Given the description of an element on the screen output the (x, y) to click on. 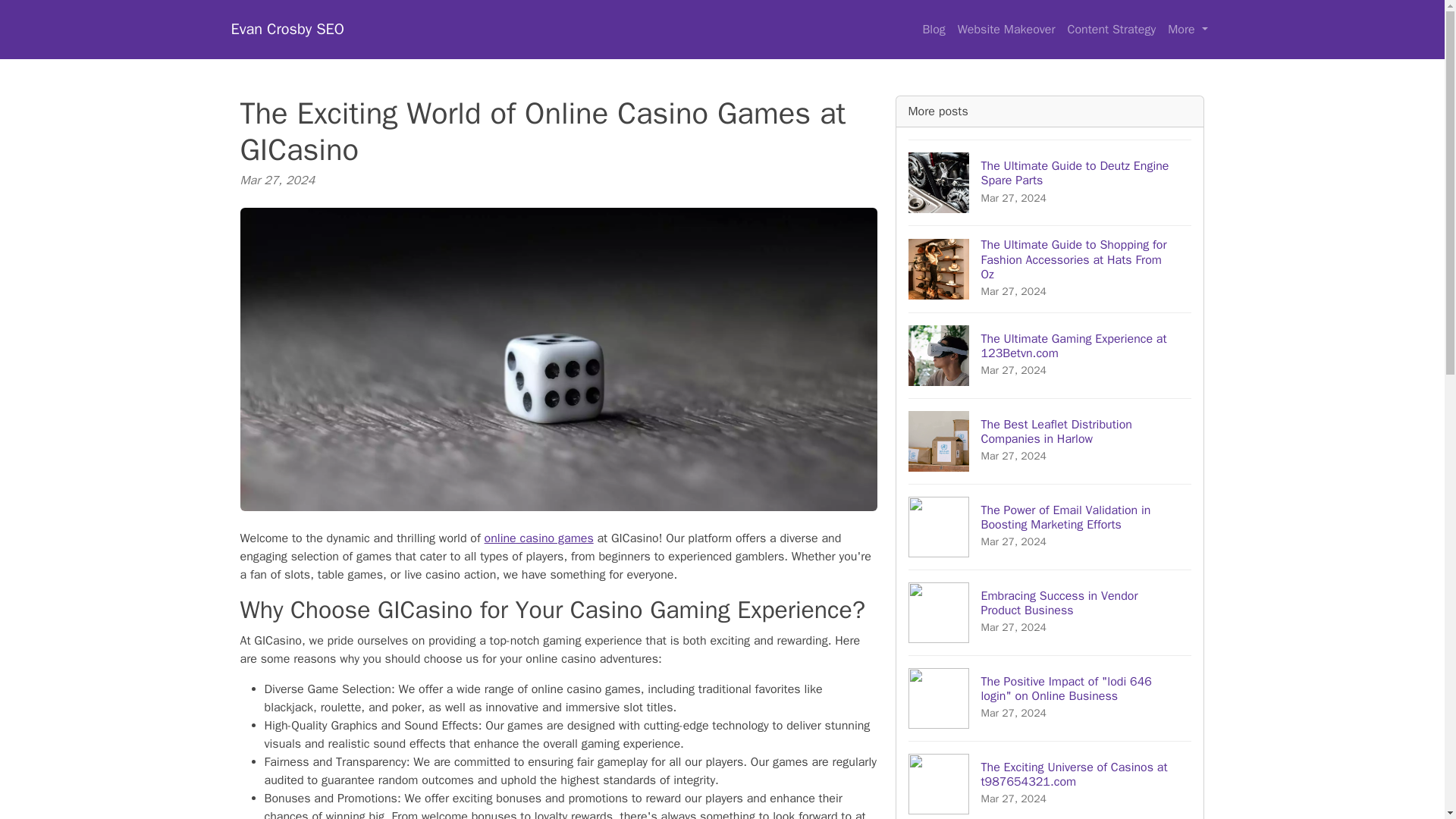
Website Makeover (1050, 355)
Content Strategy (1006, 29)
More (1050, 182)
online casino games (1111, 29)
